Given the description of an element on the screen output the (x, y) to click on. 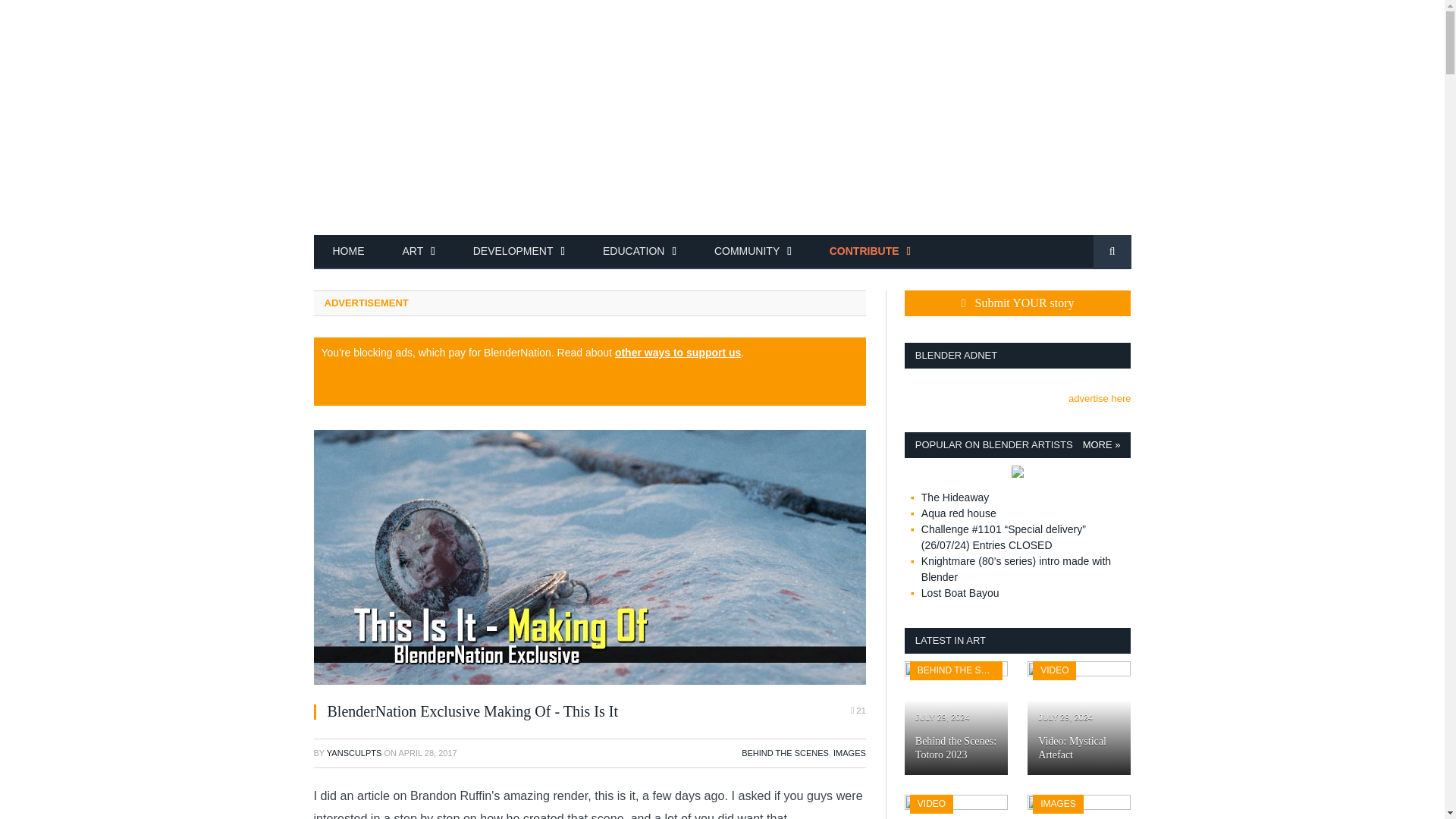
YANSCULPTS (353, 752)
2017-04-28 (427, 752)
EDUCATION (639, 252)
Search (1112, 252)
IMAGES (849, 752)
DEVELOPMENT (518, 252)
COMMUNITY (752, 252)
ART (419, 252)
BEHIND THE SCENES (784, 752)
HOME (349, 252)
CONTRIBUTE (870, 252)
other ways to support us (677, 352)
Posts by YanSculpts (353, 752)
